Given the description of an element on the screen output the (x, y) to click on. 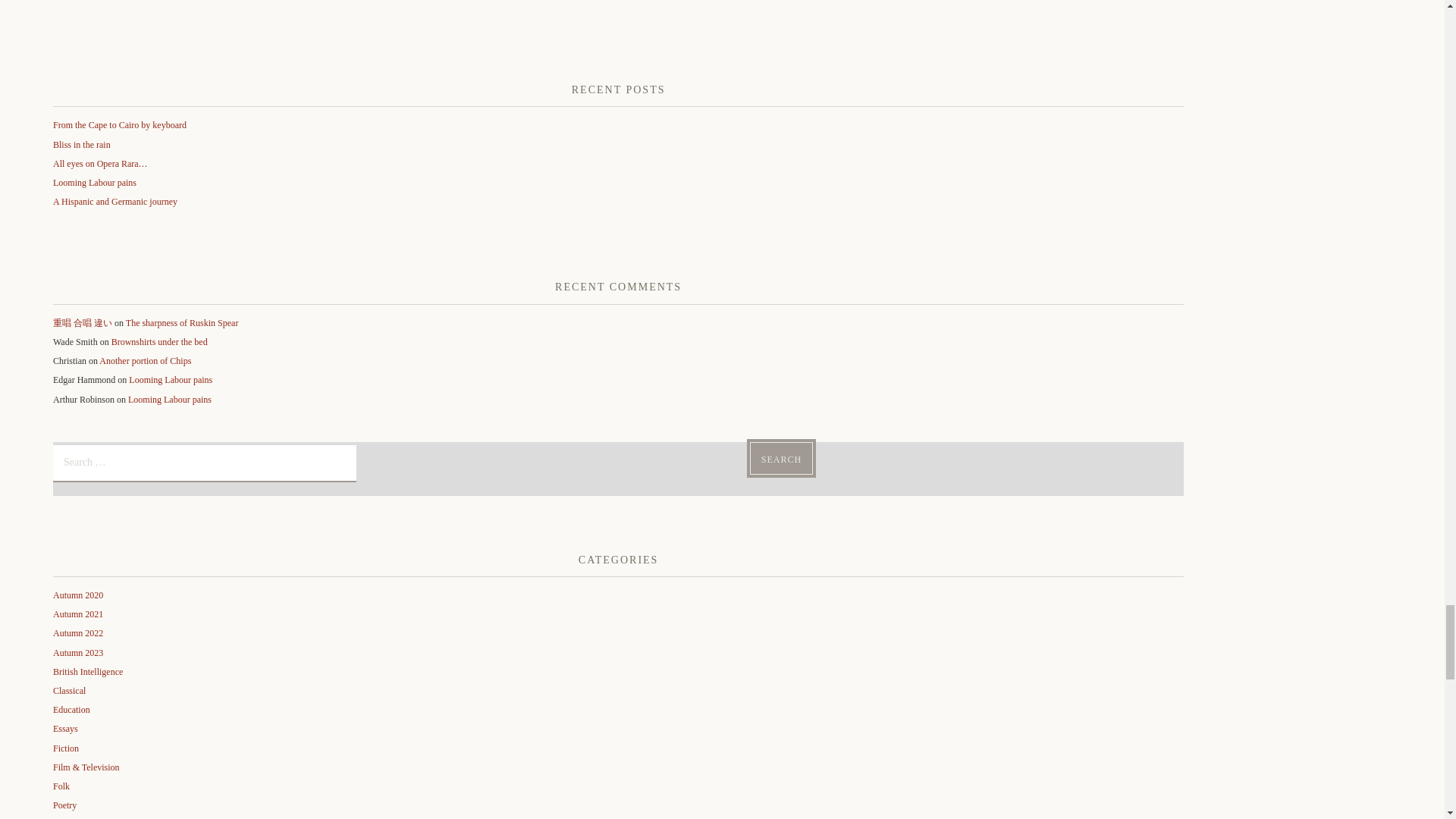
Search (780, 458)
A Hispanic and Germanic journey (114, 201)
Looming Labour pains (94, 182)
From the Cape to Cairo by keyboard (119, 124)
Search (780, 458)
Bliss in the rain (81, 144)
